Given the description of an element on the screen output the (x, y) to click on. 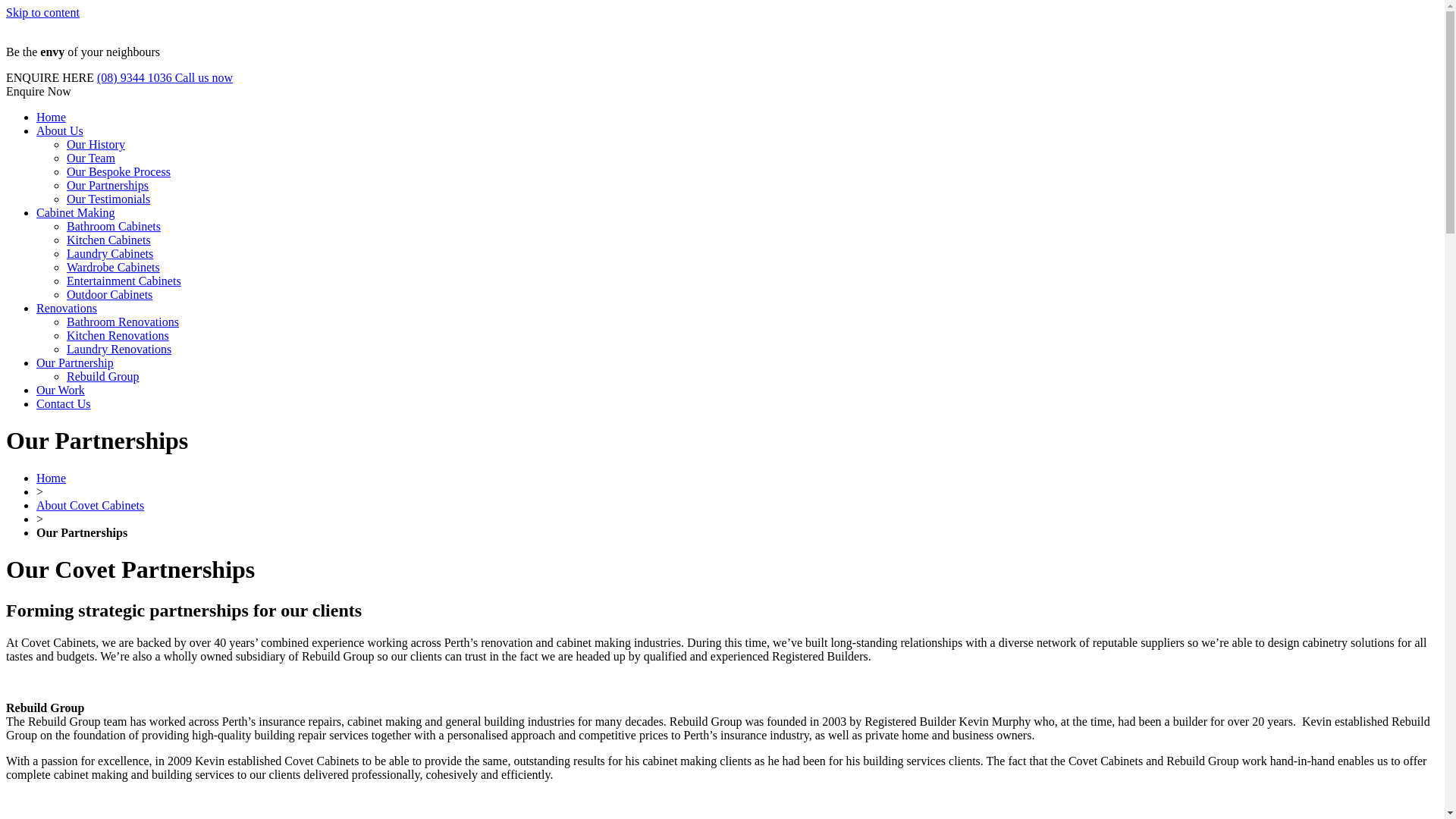
Kitchen Cabinets Element type: text (108, 239)
Entertainment Cabinets Element type: text (123, 280)
Bathroom Renovations Element type: text (122, 321)
Our Partnerships Element type: text (107, 184)
Skip to content Element type: text (42, 12)
Our Testimonials Element type: text (108, 198)
Home Element type: text (50, 116)
Outdoor Cabinets Element type: text (109, 294)
Our Team Element type: text (90, 157)
Our Work Element type: text (60, 389)
Renovations Element type: text (66, 307)
Bathroom Cabinets Element type: text (113, 225)
Laundry Renovations Element type: text (118, 348)
Home Element type: text (50, 477)
Enquire Now Element type: text (38, 90)
Wardrobe Cabinets Element type: text (113, 266)
ENQUIRE HERE Element type: text (50, 77)
Our Bespoke Process Element type: text (118, 171)
Our Partnership Element type: text (74, 362)
Contact Us Element type: text (63, 403)
About Covet Cabinets Element type: text (90, 504)
Cabinet Making Element type: text (75, 212)
(08) 9344 1036 Call us now Element type: text (164, 77)
About Us Element type: text (59, 130)
Our History Element type: text (95, 144)
Rebuild Group Element type: text (102, 376)
Laundry Cabinets Element type: text (109, 253)
Kitchen Renovations Element type: text (117, 335)
